Given the description of an element on the screen output the (x, y) to click on. 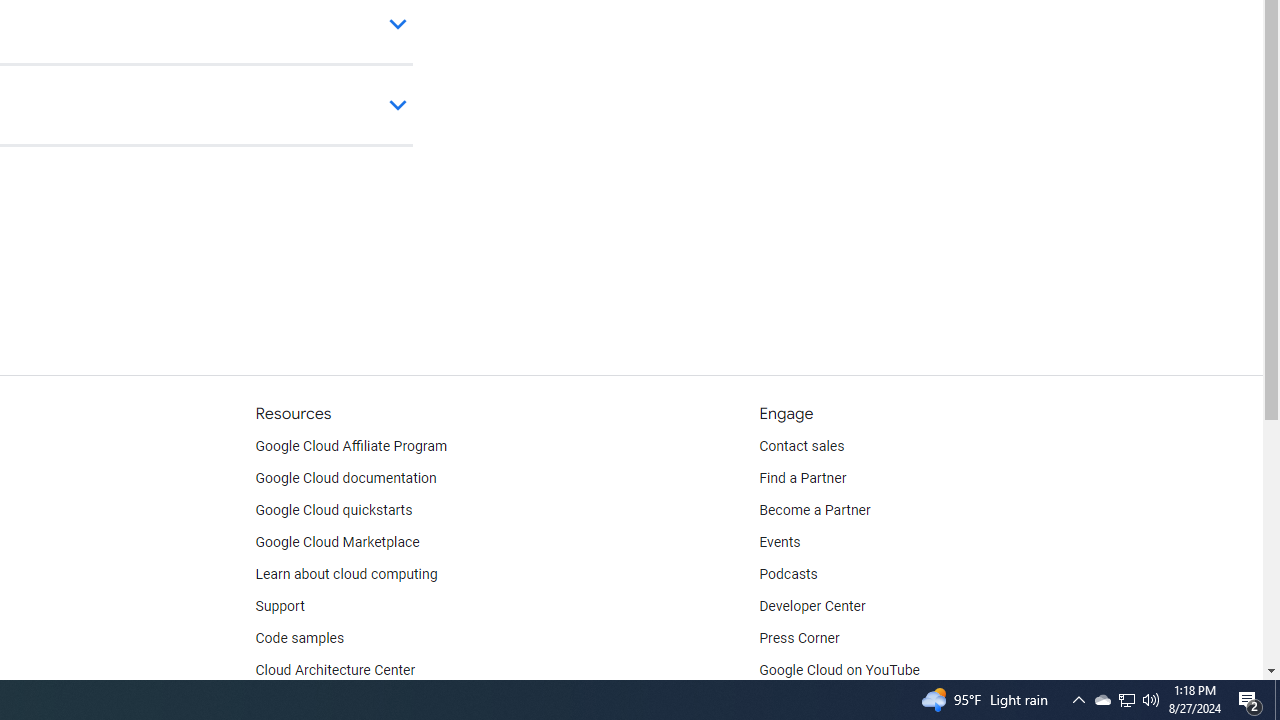
Developer Center (812, 606)
Cloud Architecture Center (335, 670)
Support (279, 606)
Google Cloud Affiliate Program (351, 446)
Google Cloud Marketplace (336, 542)
Learn about cloud computing (345, 574)
Press Corner (799, 638)
Events (780, 542)
Google Cloud quickstarts (333, 511)
Code samples (299, 638)
Podcasts (788, 574)
Find a Partner (803, 478)
Become a Partner (814, 511)
Google Cloud documentation (345, 478)
